Given the description of an element on the screen output the (x, y) to click on. 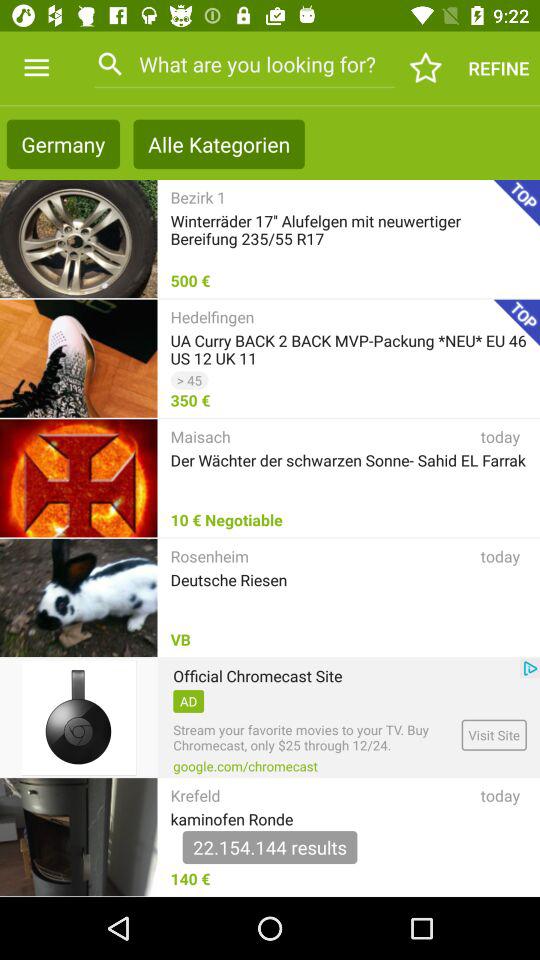
click icon above the google.com/chromecast (313, 737)
